Given the description of an element on the screen output the (x, y) to click on. 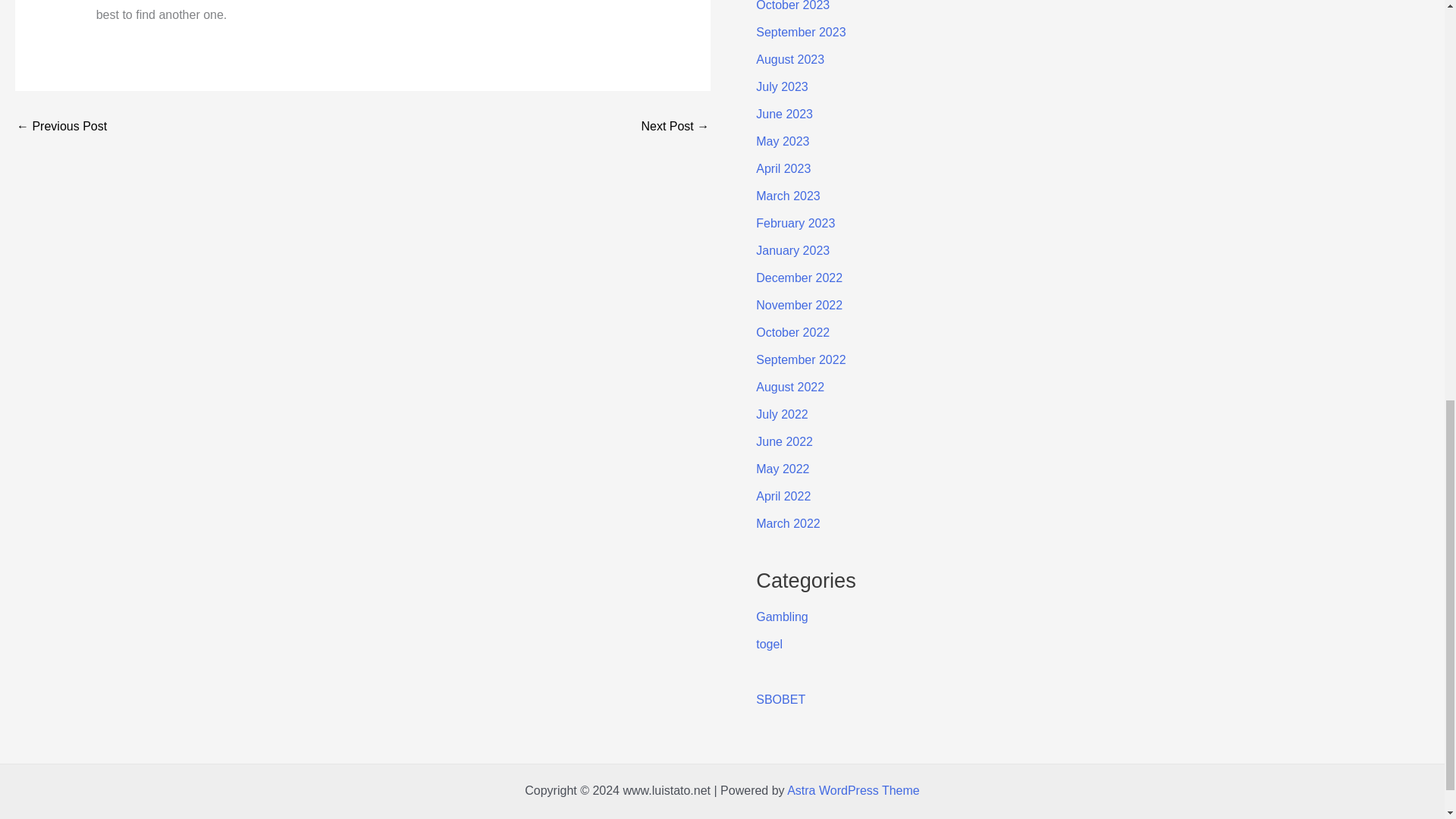
April 2023 (782, 168)
February 2023 (794, 223)
July 2023 (781, 86)
October 2022 (792, 332)
What is a Slot? (674, 126)
September 2022 (800, 359)
September 2023 (800, 31)
March 2023 (788, 195)
December 2022 (799, 277)
November 2022 (799, 305)
May 2023 (782, 141)
August 2023 (789, 59)
June 2023 (783, 113)
The Odds of Winning a Lottery (61, 126)
October 2023 (792, 5)
